Given the description of an element on the screen output the (x, y) to click on. 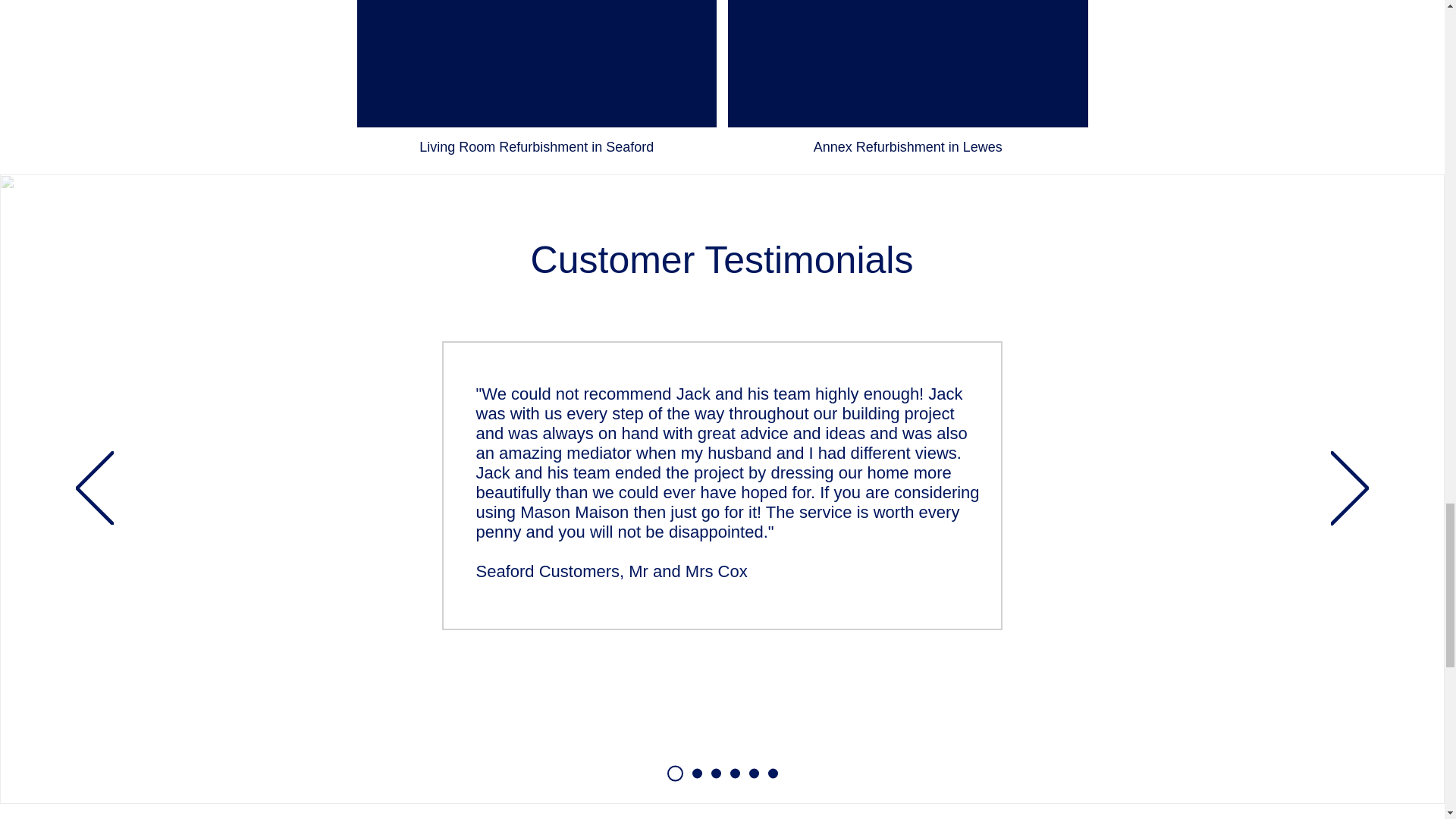
Annex Refurbishment in Lewes (907, 83)
Living Room Refurbishment in Seaford (536, 83)
